Given the description of an element on the screen output the (x, y) to click on. 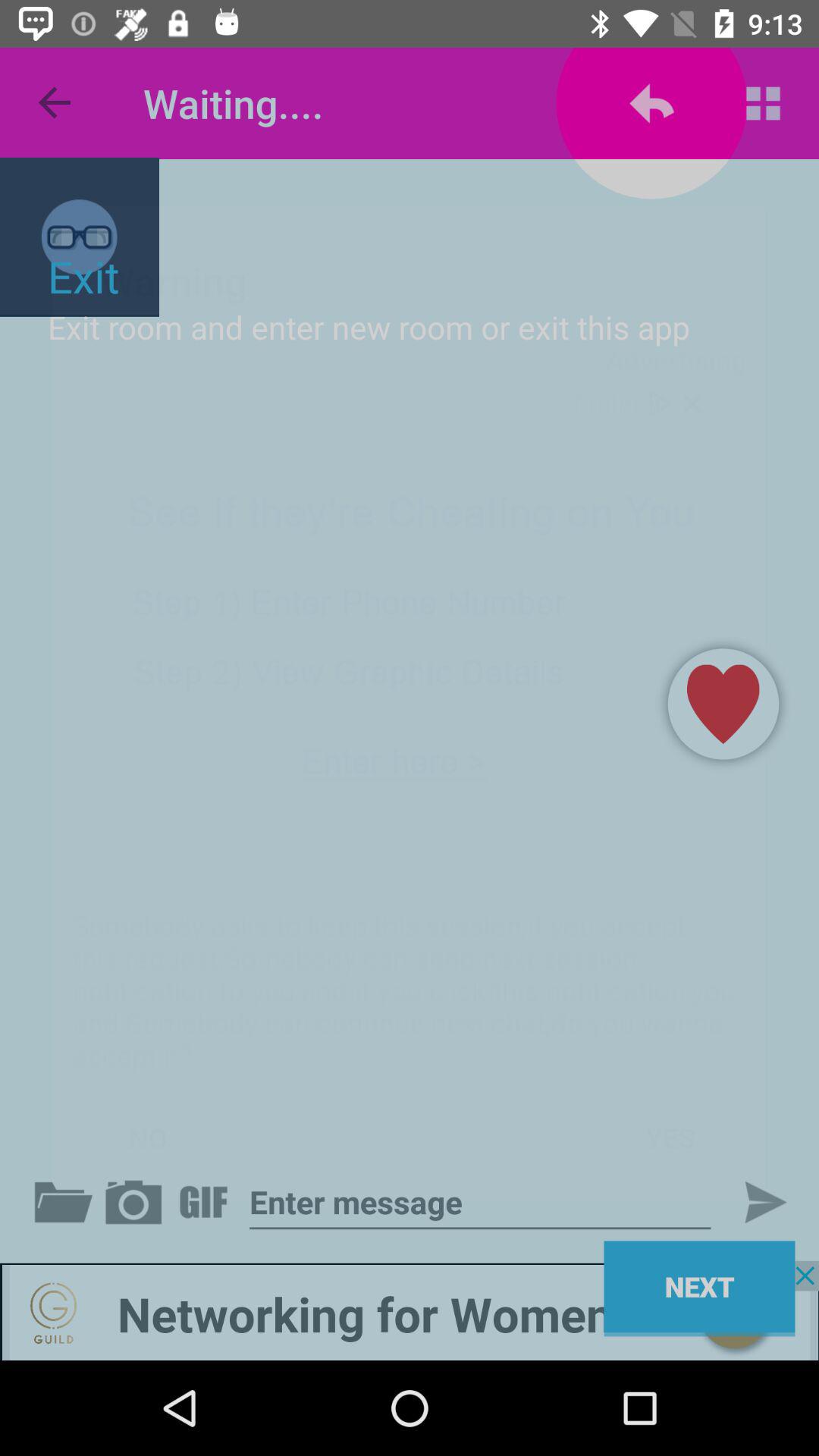
go back (136, 1202)
